Given the description of an element on the screen output the (x, y) to click on. 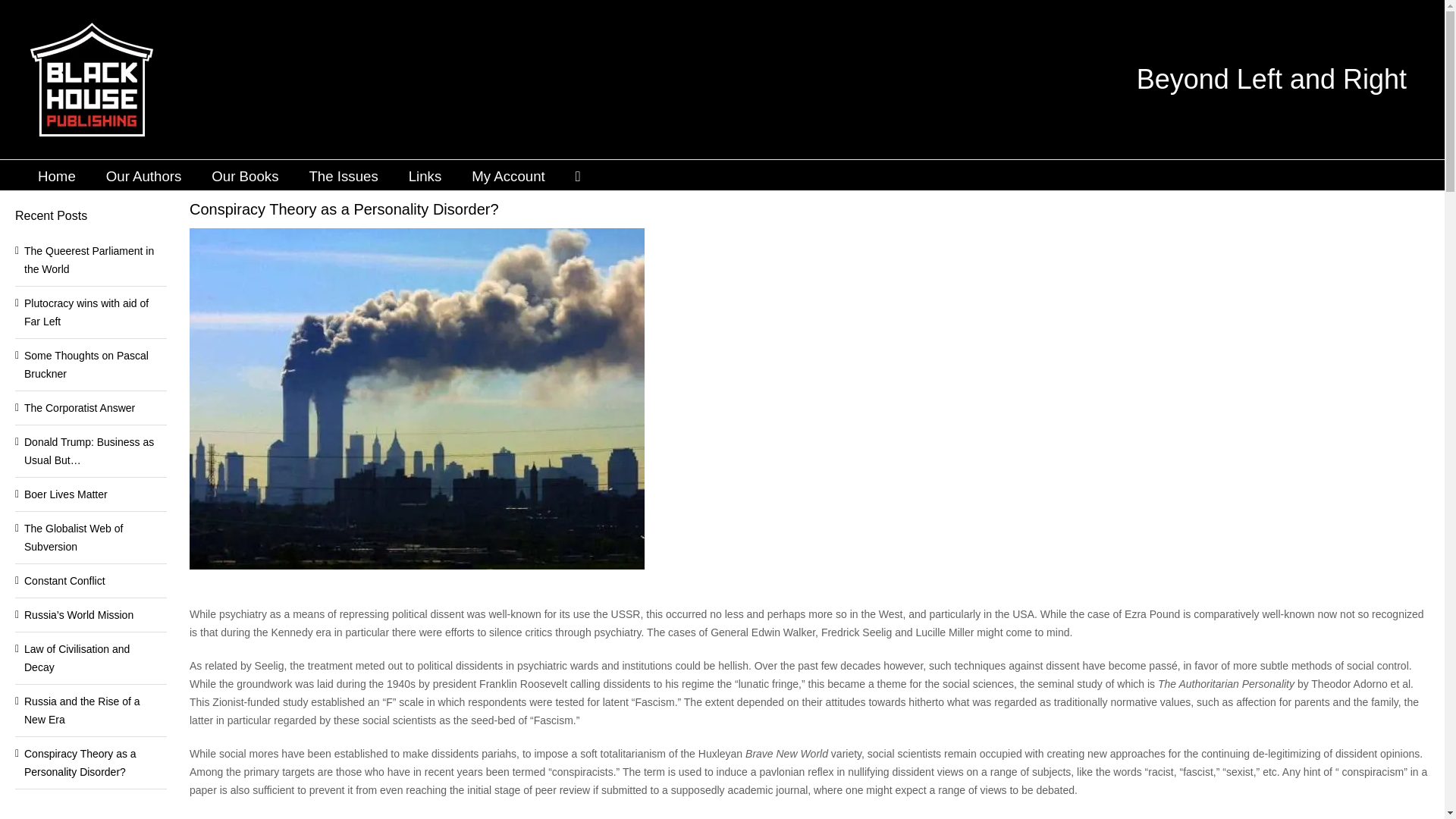
The Corporatist Answer (79, 408)
Log In (562, 296)
Plutocracy wins with aid of Far Left (86, 312)
Our Authors (144, 174)
Links (425, 174)
The Queerest Parliament in the World (89, 259)
My Account (507, 174)
Our Books (244, 174)
Some Thoughts on Pascal Bruckner (86, 364)
